Given the description of an element on the screen output the (x, y) to click on. 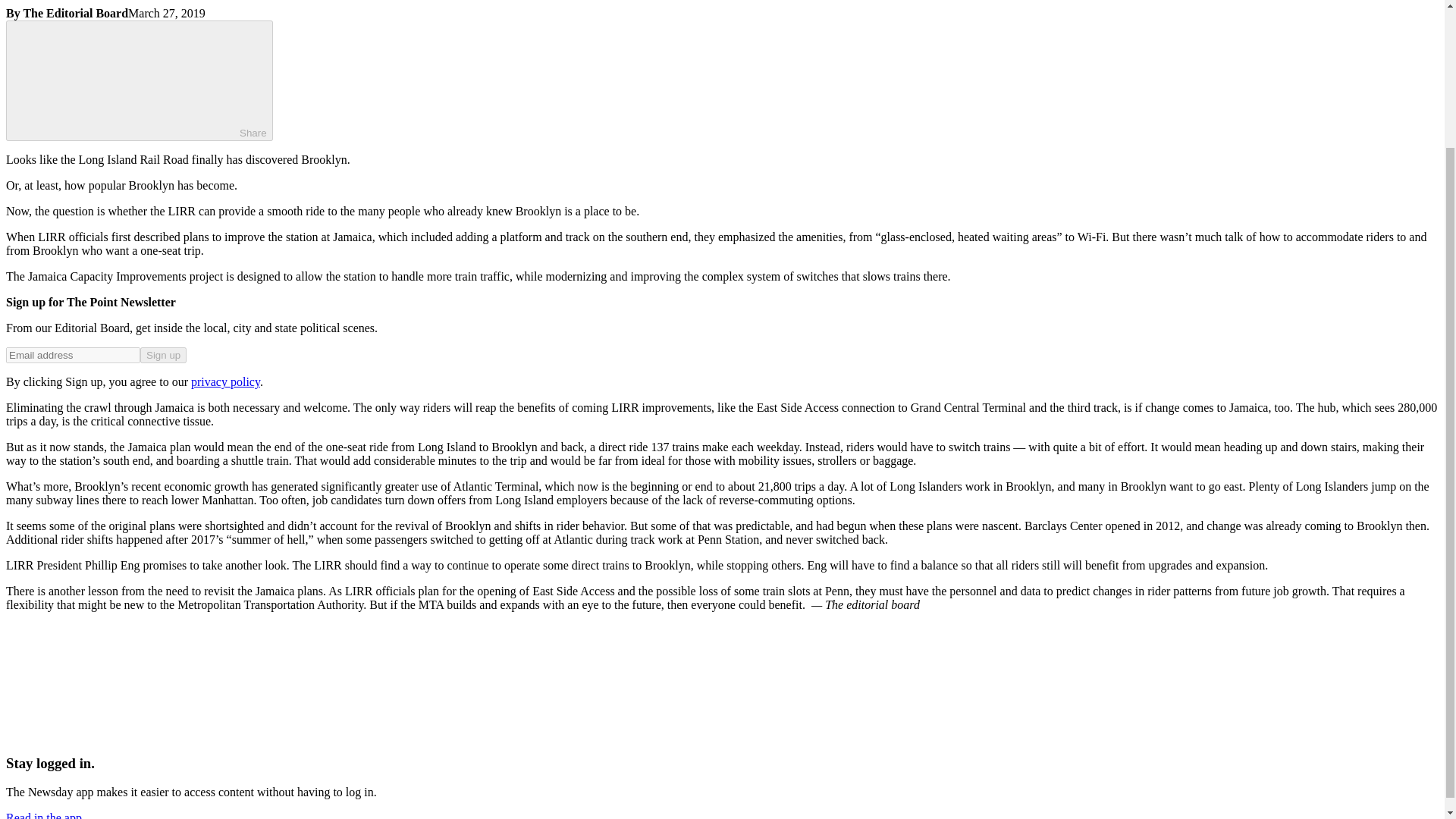
Share (139, 80)
privacy policy (225, 381)
Sign up (162, 355)
